Given the description of an element on the screen output the (x, y) to click on. 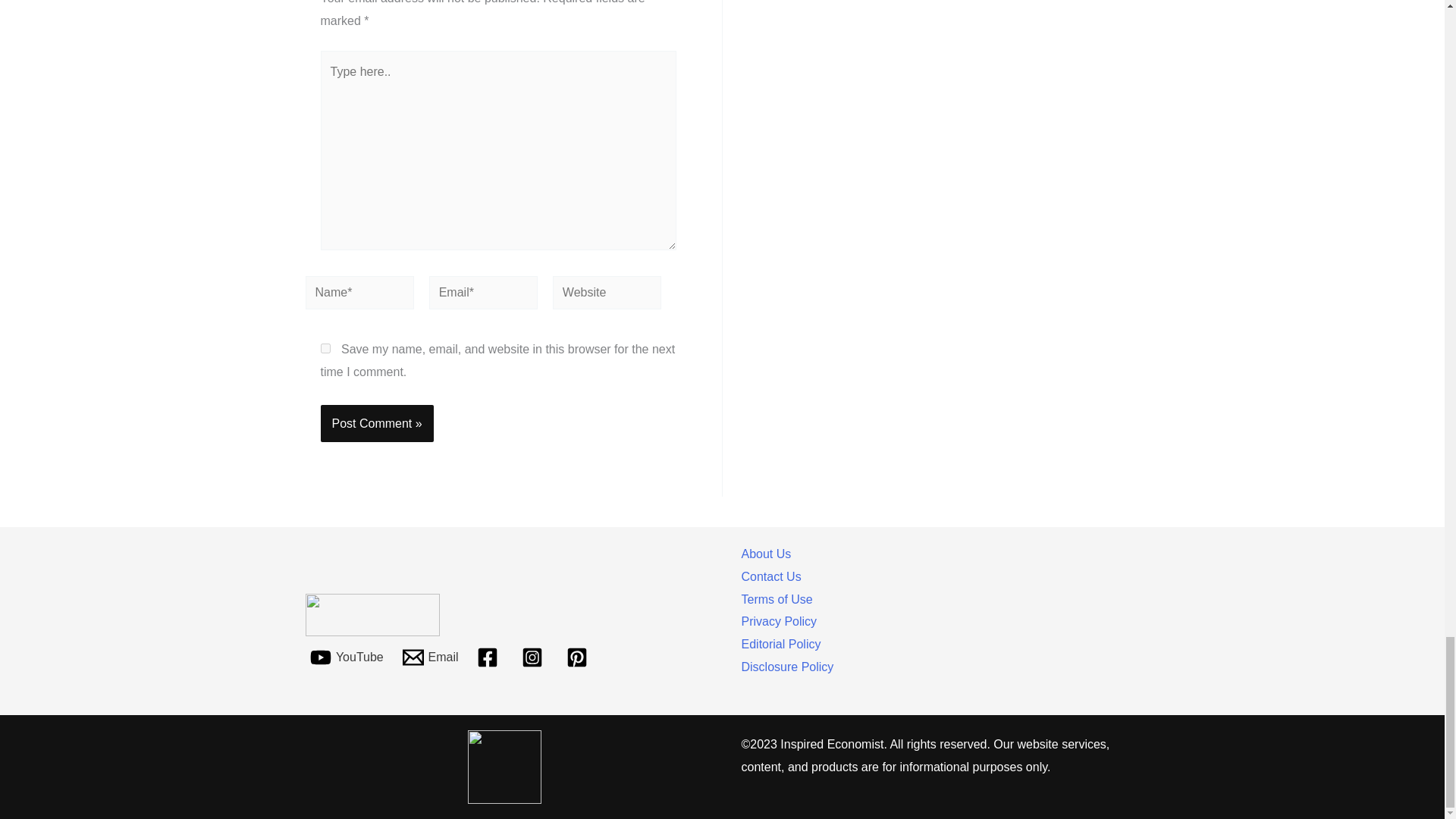
yes (325, 347)
